Given the description of an element on the screen output the (x, y) to click on. 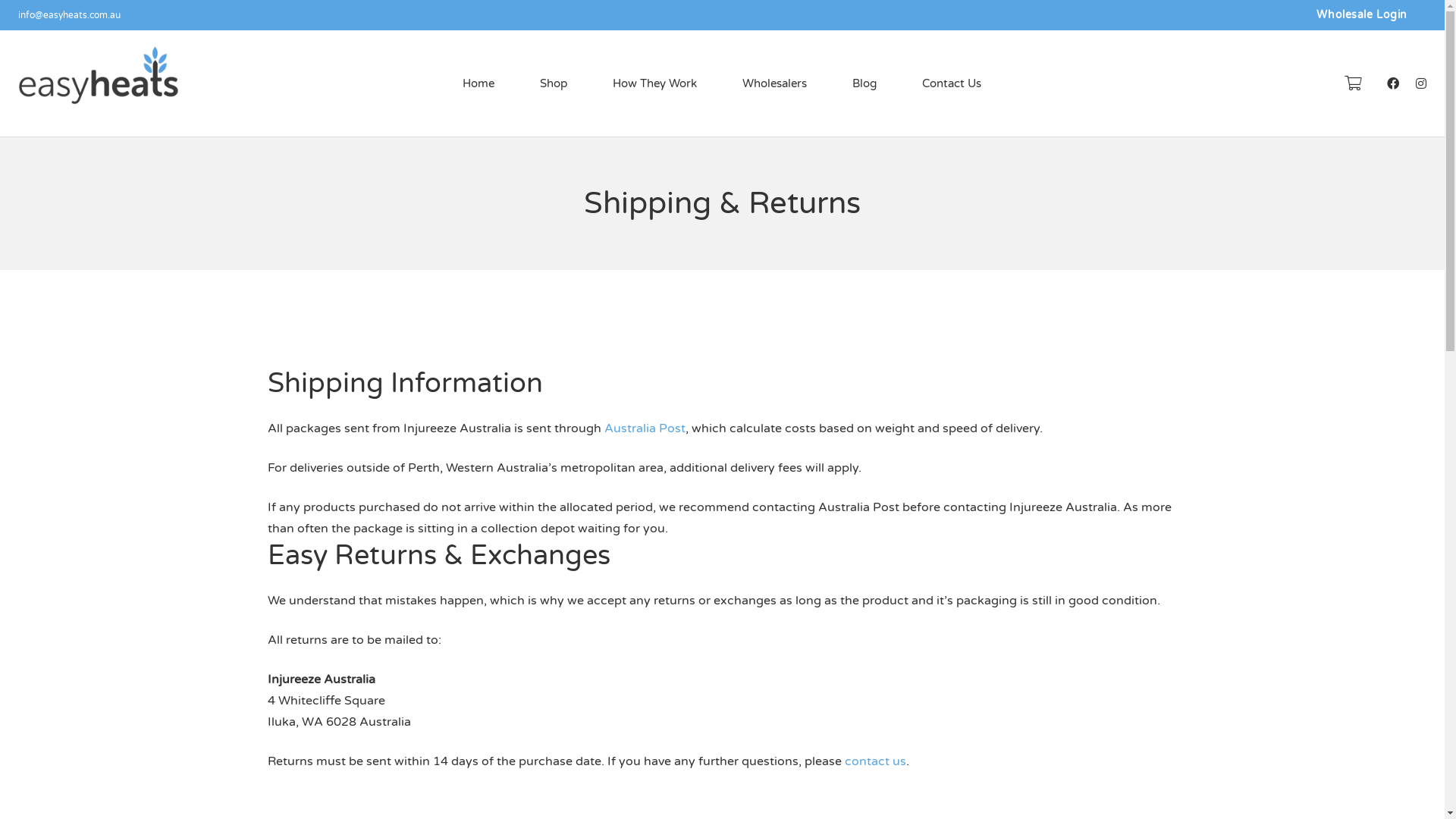
Wholesalers Element type: text (774, 83)
Contact Us Element type: text (951, 83)
How They Work Element type: text (654, 83)
Wholesale Login Element type: text (1361, 14)
Home Element type: text (478, 83)
Blog Element type: text (864, 83)
contact us Element type: text (875, 760)
Australia Post Element type: text (643, 428)
0 Element type: text (1352, 83)
Shop Element type: text (553, 83)
